Given the description of an element on the screen output the (x, y) to click on. 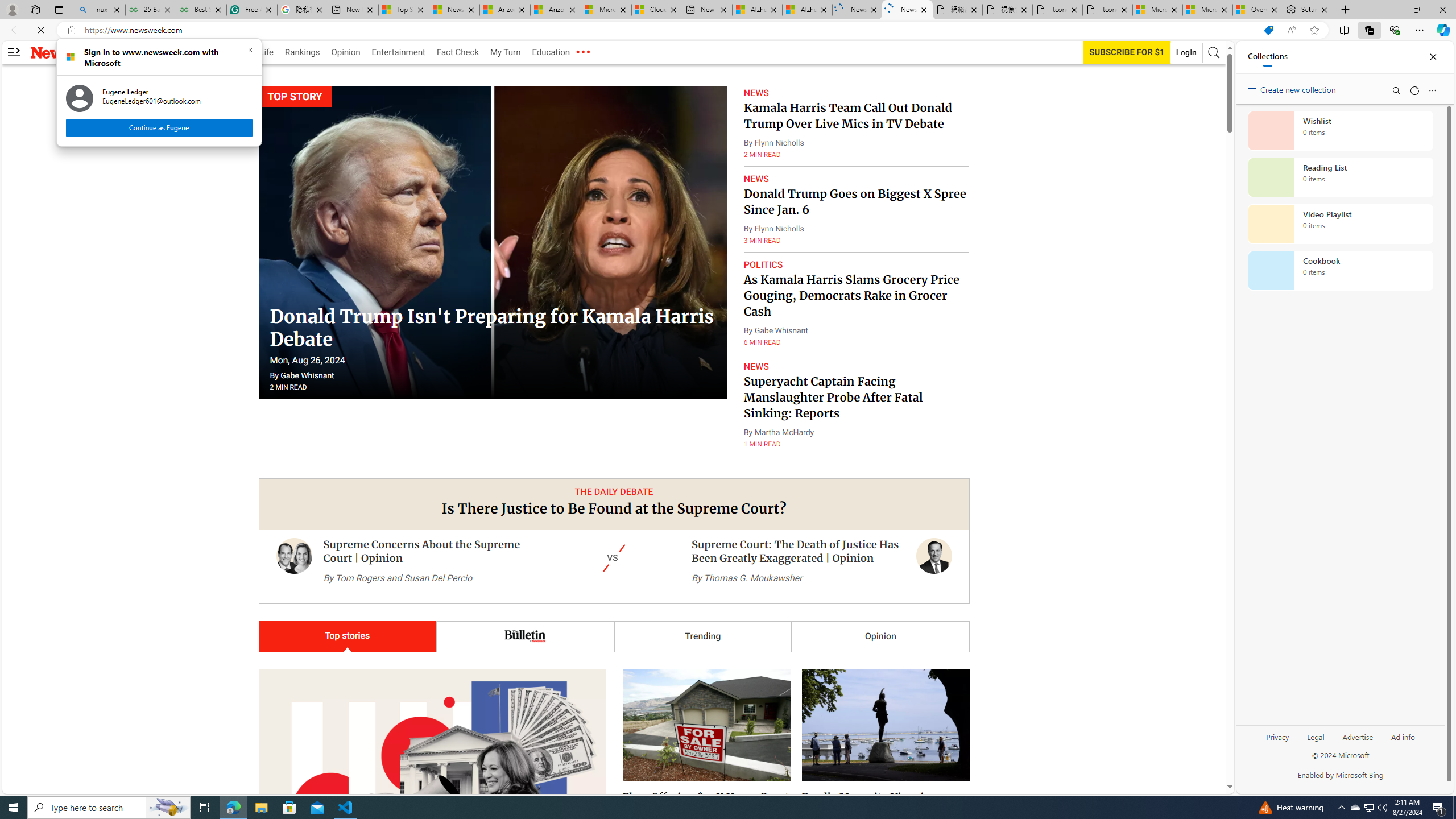
POLITICS (763, 264)
AutomationID: search-btn (1213, 51)
Running applications (717, 807)
